Given the description of an element on the screen output the (x, y) to click on. 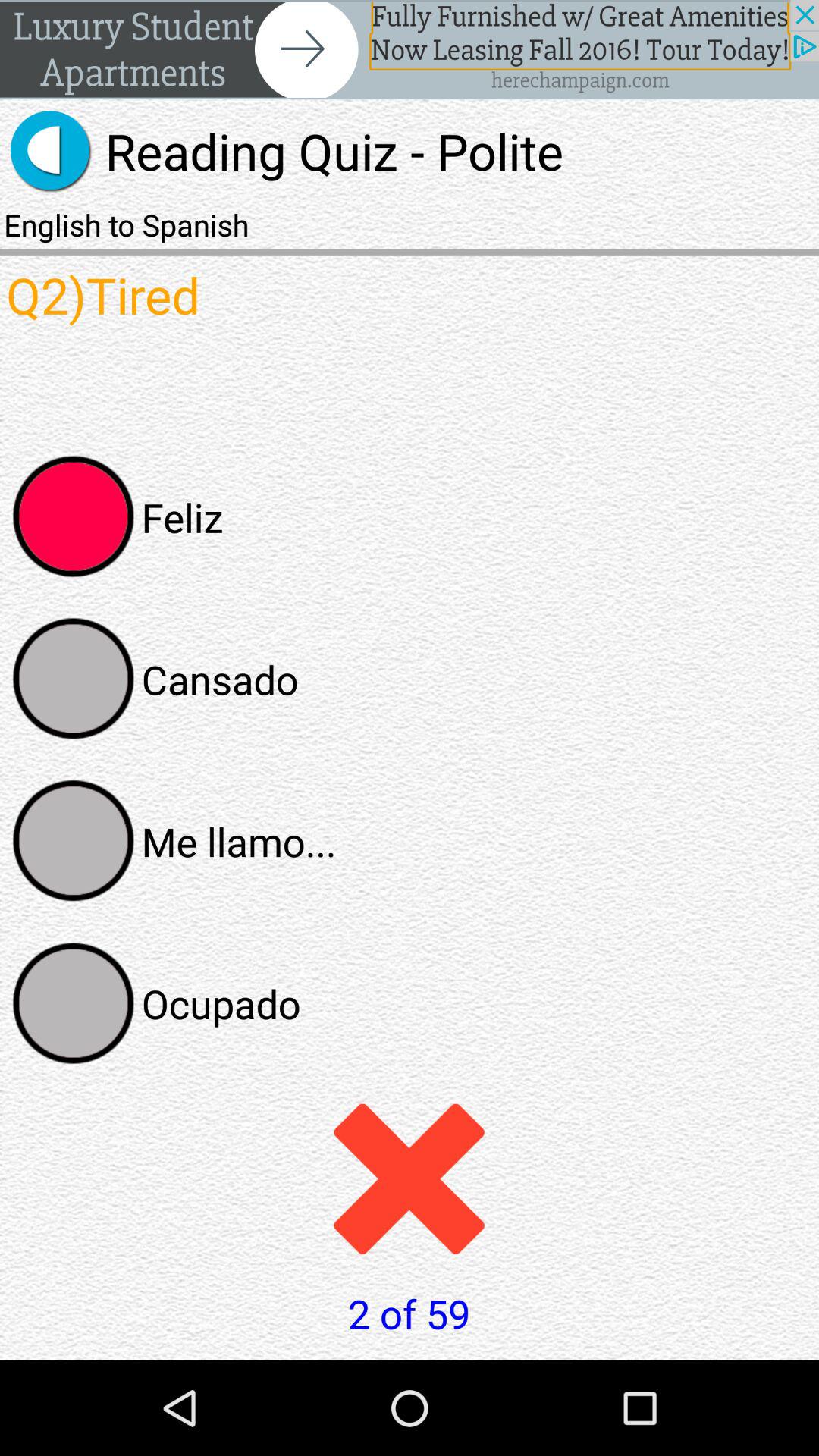
select this answer (73, 840)
